Given the description of an element on the screen output the (x, y) to click on. 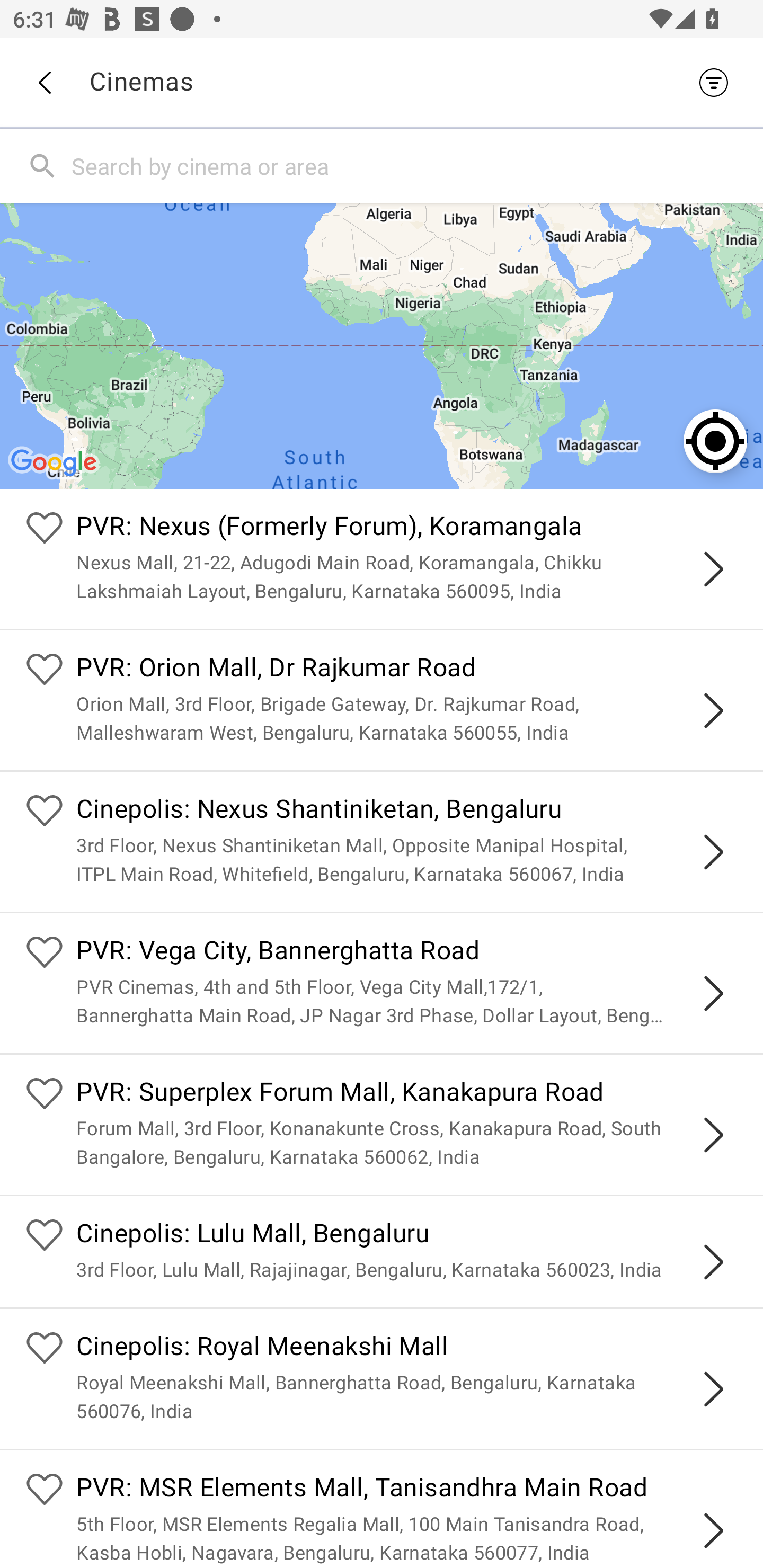
Back Cinemas Filter (381, 82)
Filter (718, 82)
Back (44, 82)
Search by cinema or area (413, 165)
Google Map (381, 345)
PVR: Nexus (Formerly Forum), Koramangala (406, 528)
 (713, 568)
PVR: Orion Mall, Dr Rajkumar Road (406, 669)
 (713, 710)
Cinepolis: Nexus Shantiniketan, Bengaluru (406, 810)
 (713, 851)
PVR: Vega City, Bannerghatta Road (406, 952)
 (713, 993)
PVR: Superplex Forum Mall, Kanakapura Road (406, 1094)
 (713, 1134)
Cinepolis: Lulu Mall, Bengaluru (406, 1235)
 (713, 1261)
Cinepolis: Royal Meenakshi Mall (406, 1348)
 (713, 1388)
PVR: MSR Elements Mall, Tanisandhra Main Road (406, 1489)
 (713, 1530)
